Given the description of an element on the screen output the (x, y) to click on. 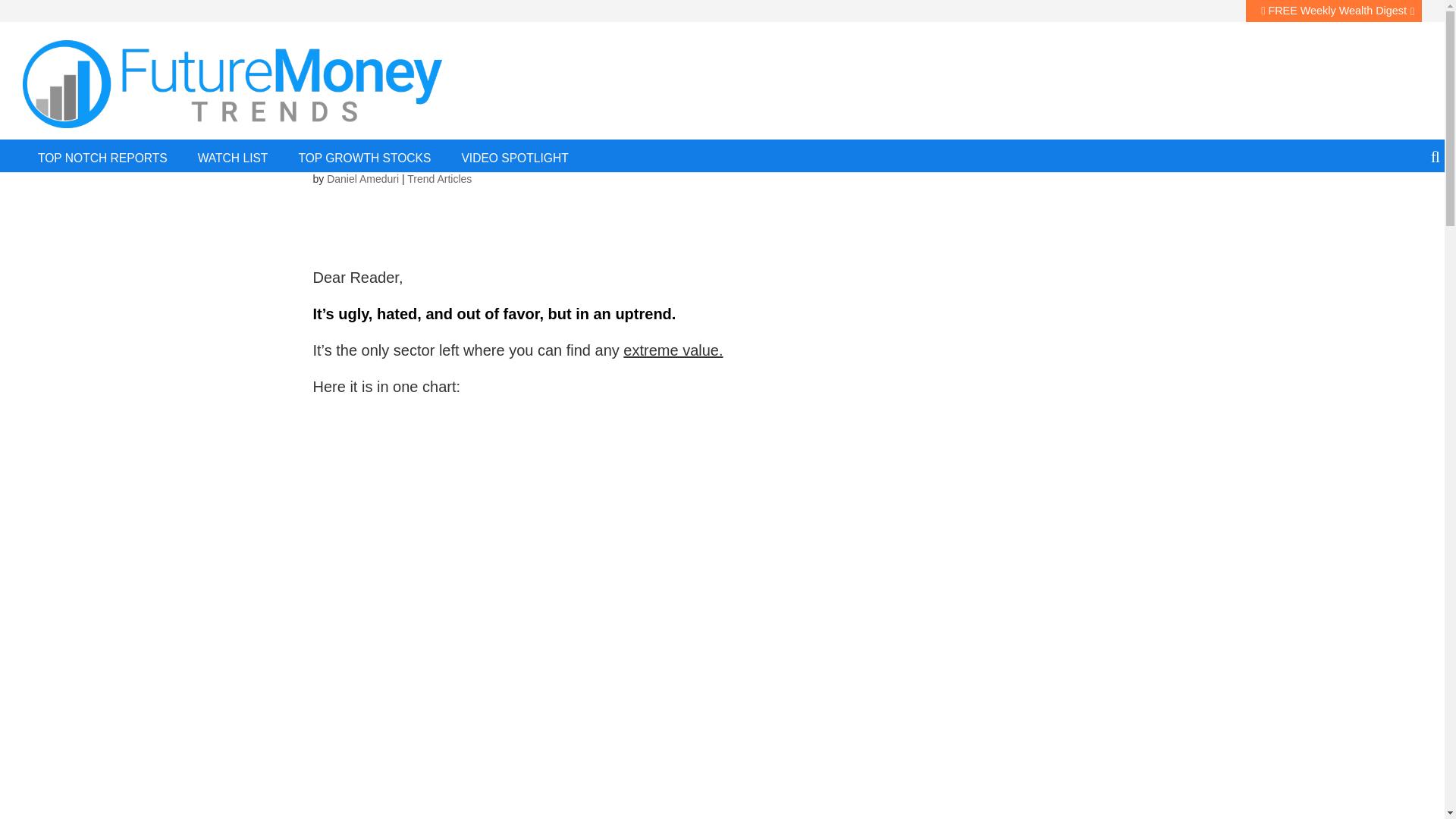
TOP NOTCH REPORTS (103, 155)
Trend Articles (439, 178)
Posts by Daniel Ameduri (362, 178)
TOP GROWTH STOCKS (363, 155)
WATCH LIST (233, 155)
FREE Weekly Wealth Digest (1334, 11)
VIDEO SPOTLIGHT (514, 155)
Receive our Weekly Wealth Ideas (1232, 114)
FREE Weekly Wealth Digest (1334, 11)
